Given the description of an element on the screen output the (x, y) to click on. 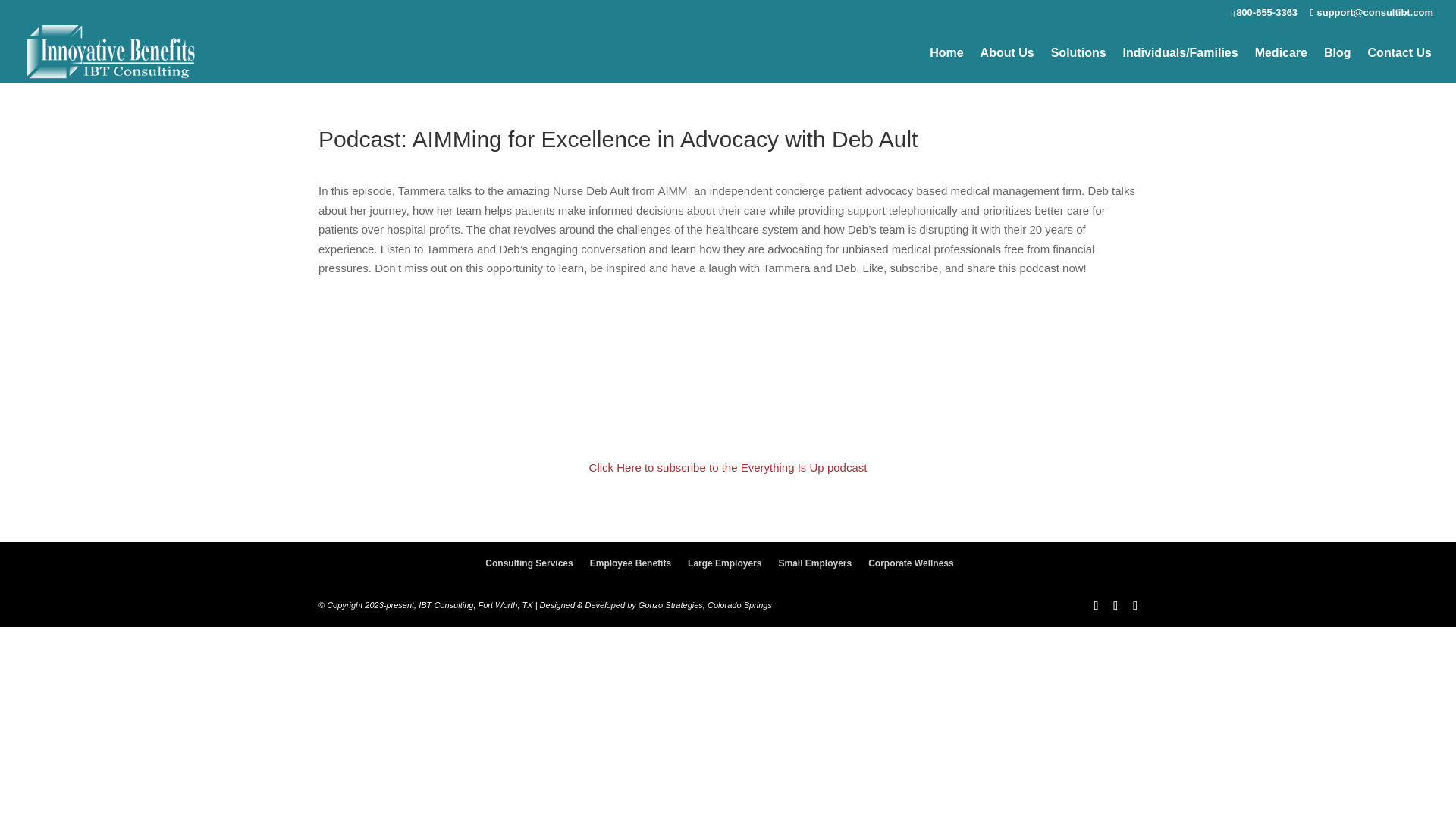
Employee Benefits (630, 564)
Gonzo Strategies, Colorado Springs (705, 605)
Solutions (1078, 67)
Contact Us (1399, 67)
Click Here to subscribe to the Everything Is Up podcast (728, 468)
Consulting Services (528, 564)
Corporate Wellness (910, 564)
Large Employers (724, 564)
About Us (1006, 67)
Small Employers (814, 564)
